Given the description of an element on the screen output the (x, y) to click on. 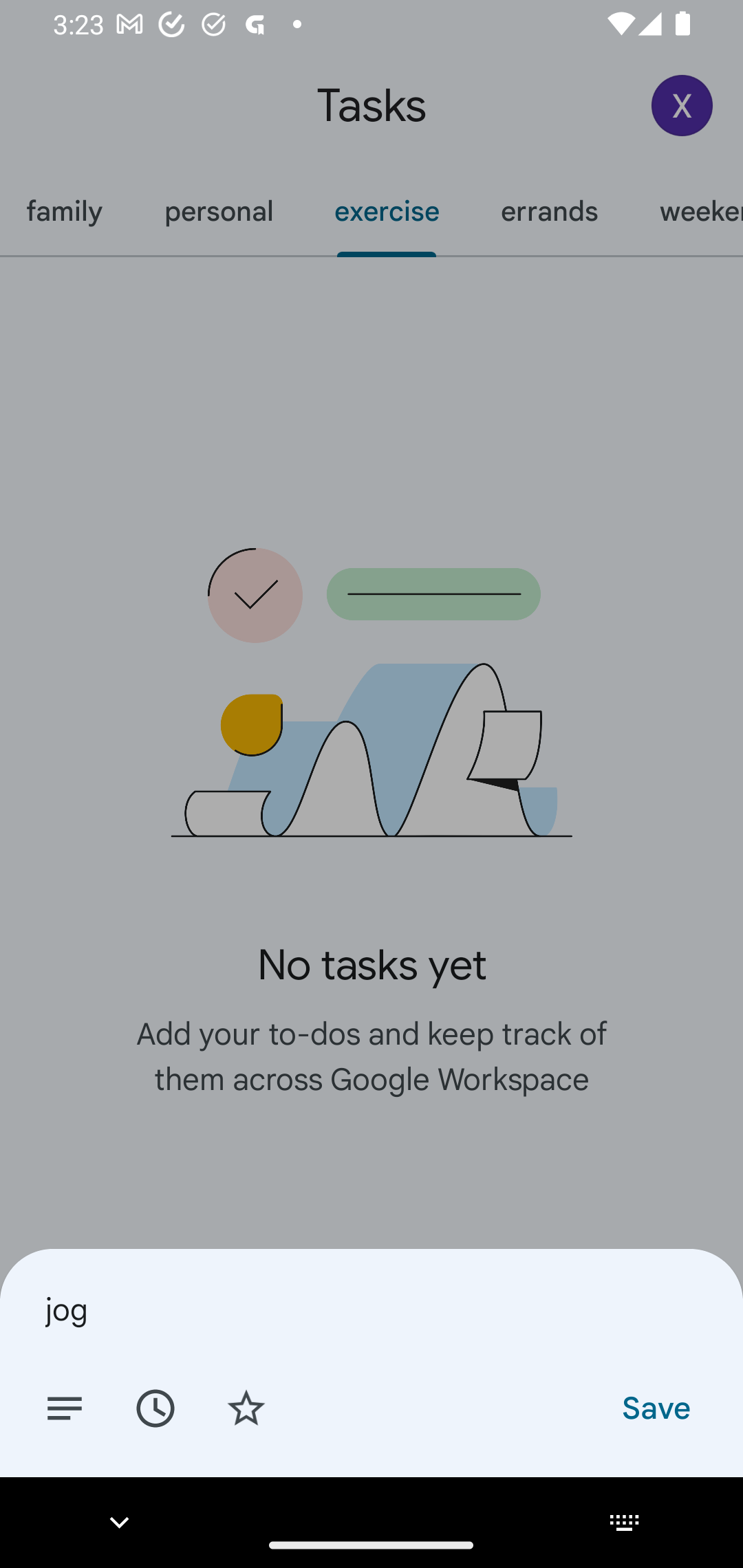
jog (371, 1308)
Save (655, 1407)
Add details (64, 1407)
Set date/time (154, 1407)
Add star (245, 1407)
